Given the description of an element on the screen output the (x, y) to click on. 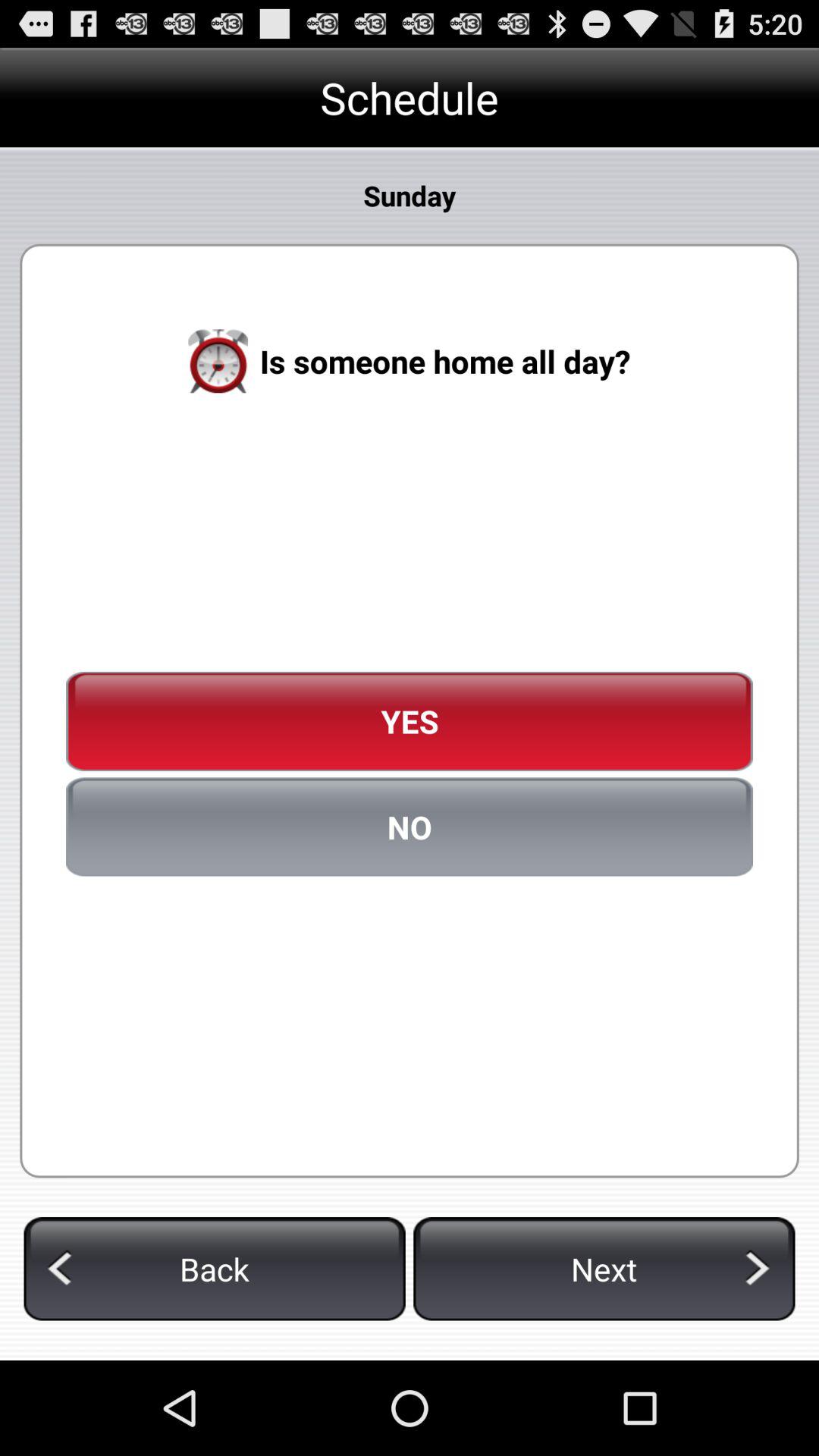
scroll until the no (409, 827)
